Given the description of an element on the screen output the (x, y) to click on. 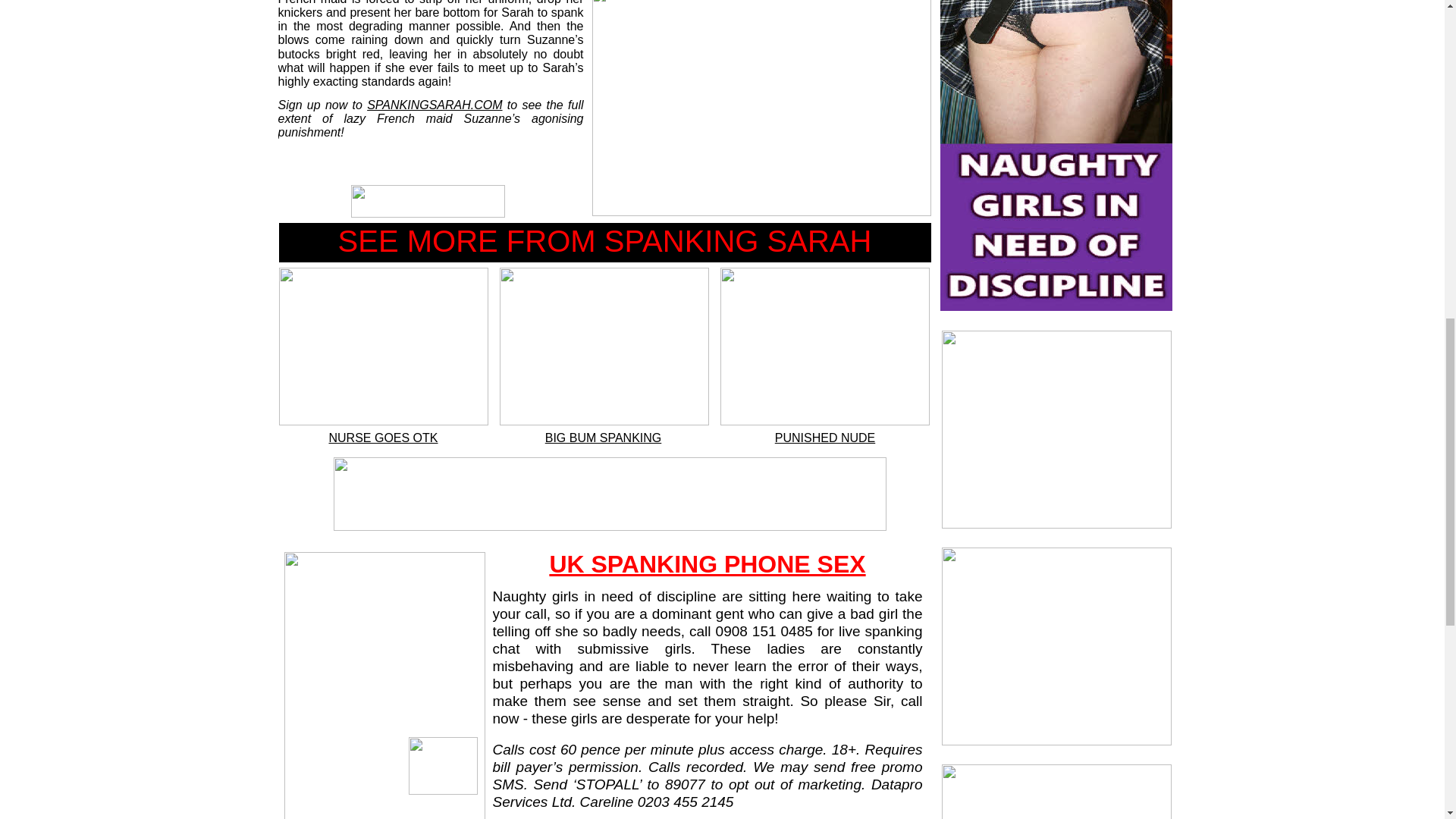
BIG BUM SPANKING (603, 437)
NURSE GOES OTK (383, 437)
SPANKINGSARAH.COM (434, 104)
UK SPANKING PHONE SEX (706, 564)
Cheap UK housewife phone sex chat lines (706, 564)
PUNISHED NUDE (824, 437)
